Given the description of an element on the screen output the (x, y) to click on. 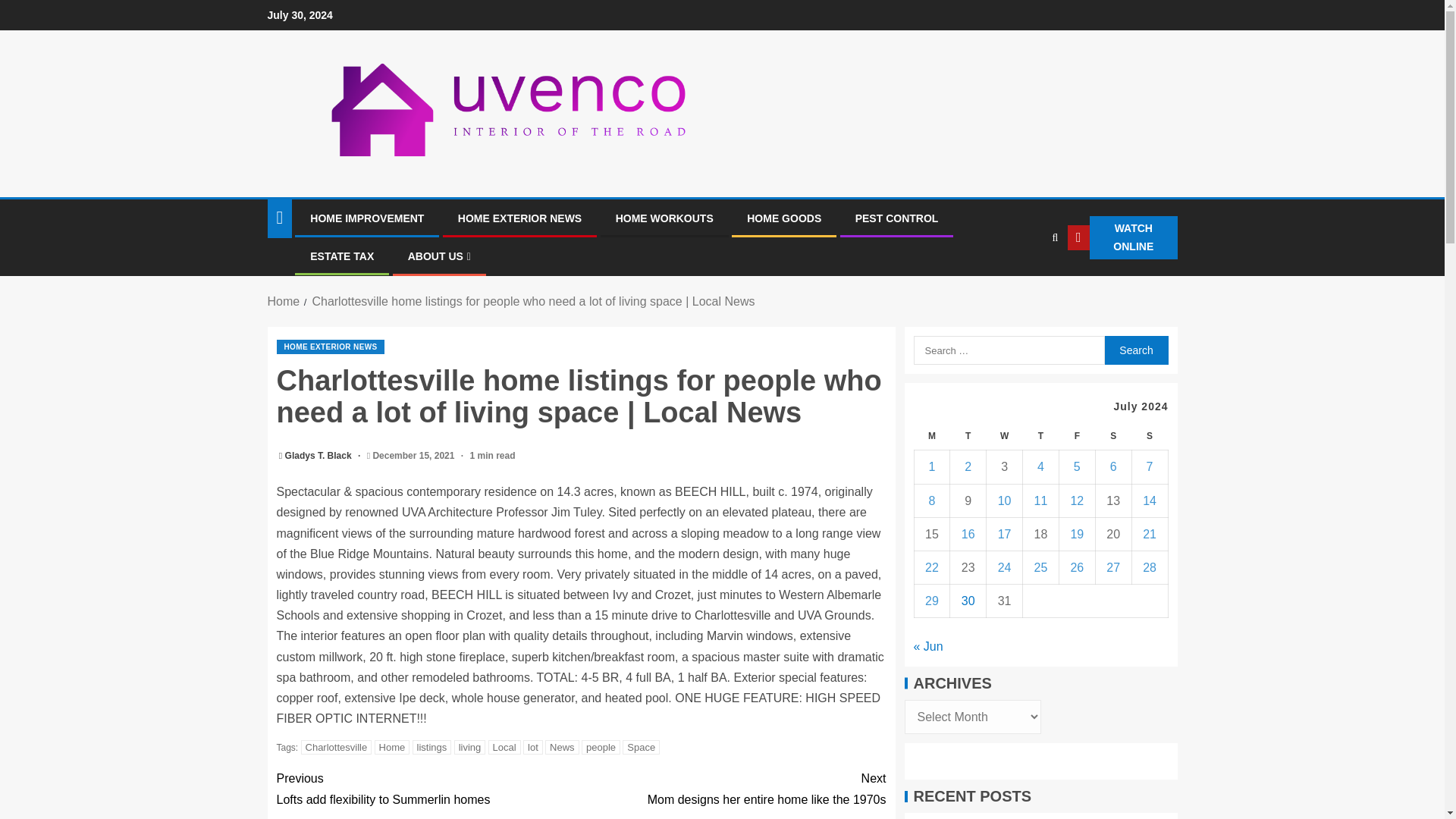
living (470, 747)
PEST CONTROL (897, 218)
Search (1135, 349)
Wednesday (1005, 436)
Home (392, 747)
ABOUT US (438, 256)
Tuesday (968, 436)
HOME EXTERIOR NEWS (330, 346)
Friday (1076, 436)
HOME EXTERIOR NEWS (519, 218)
Gladys T. Black (319, 455)
Saturday (1112, 436)
HOME IMPROVEMENT (428, 788)
